Given the description of an element on the screen output the (x, y) to click on. 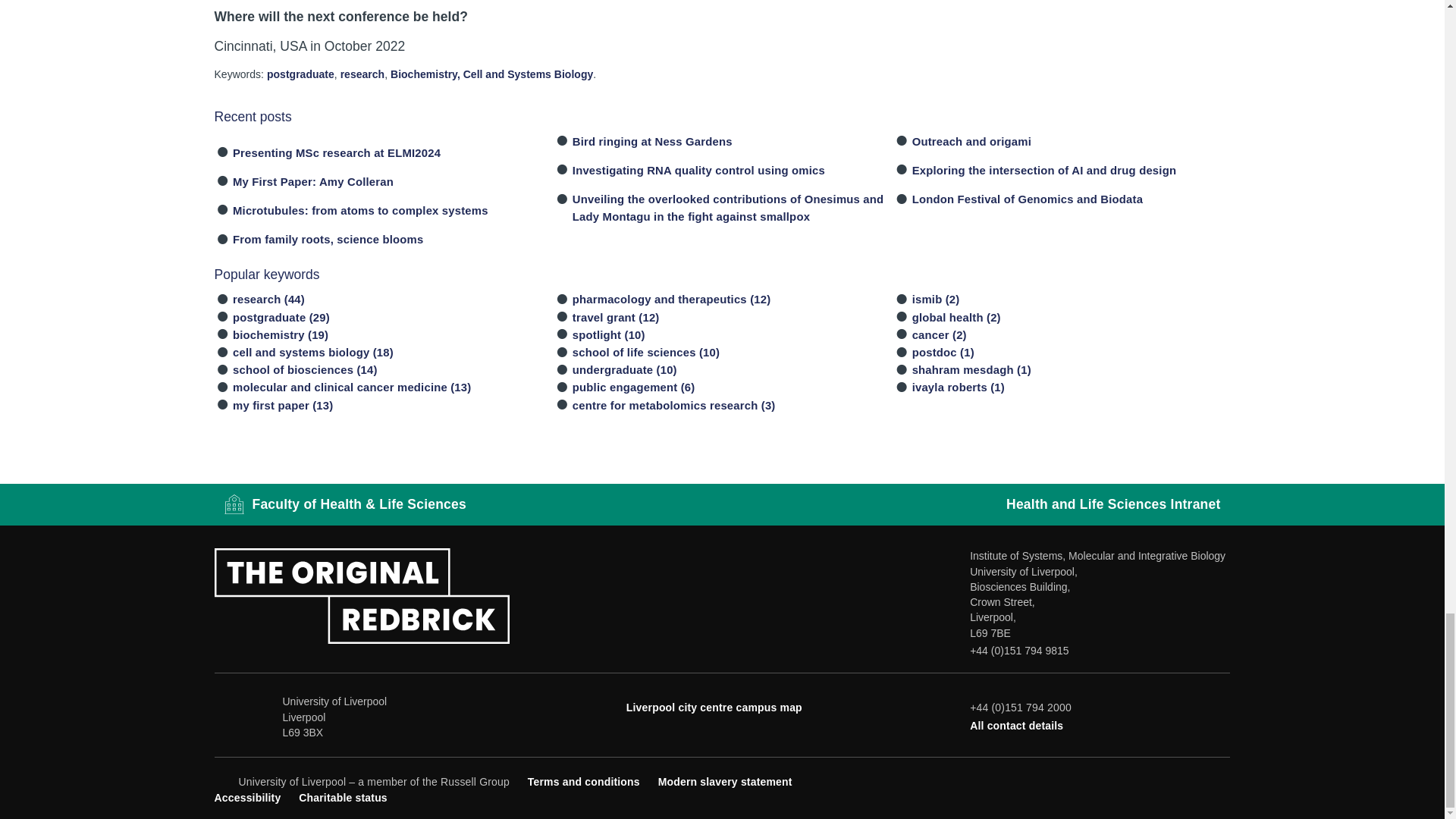
Maps (714, 707)
instagram (1196, 779)
linkedin (1220, 779)
Contact us (1015, 725)
facebook (1121, 779)
Terms and Conditions (583, 781)
Modern slavery statement (725, 781)
twitter (1146, 779)
youtube (1170, 779)
